Given the description of an element on the screen output the (x, y) to click on. 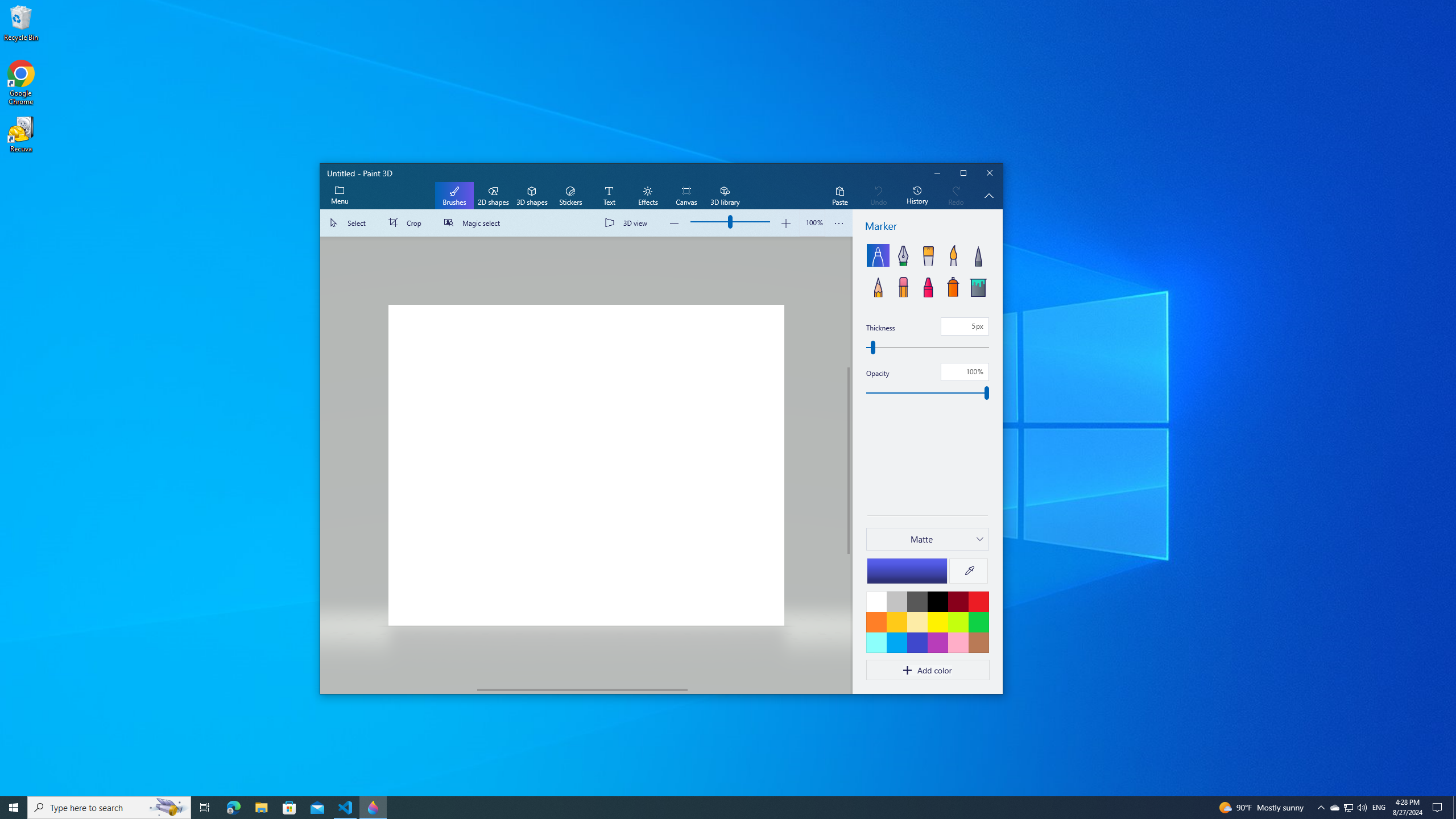
Yellow (937, 621)
Stickers (570, 195)
Aqua (876, 642)
Vertical Large Decrease (848, 301)
Select (350, 222)
Matte (921, 538)
Canvas (686, 195)
View more options (839, 222)
Paint 3D - 1 running window (373, 807)
Opacity, percent (964, 371)
